Given the description of an element on the screen output the (x, y) to click on. 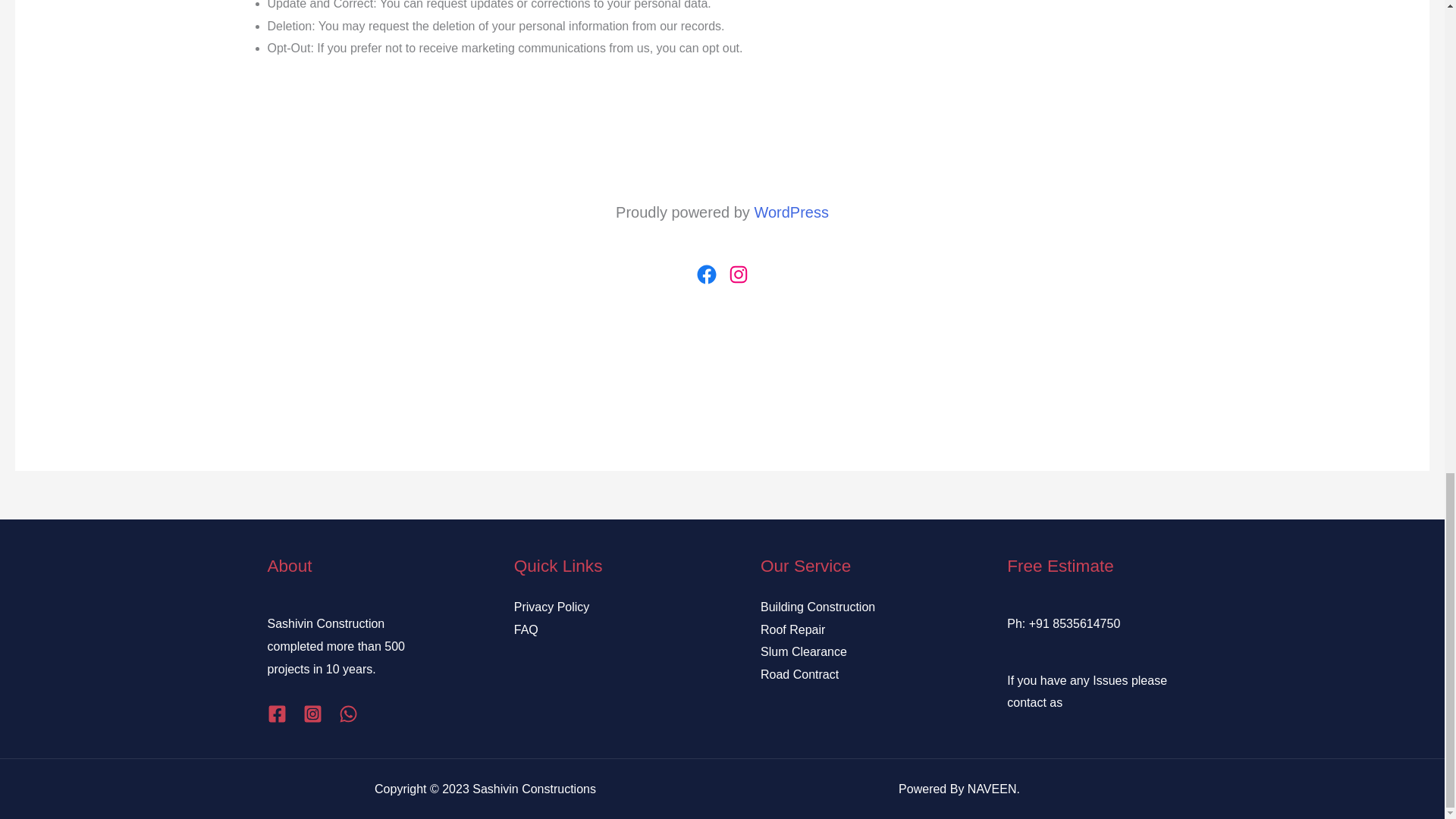
Roof Repair (792, 629)
Building Construction (817, 606)
Facebook (705, 273)
Instagram (737, 273)
Privacy Policy (551, 606)
Slum Clearance (803, 651)
FAQ (525, 629)
Road Contract (799, 674)
WordPress (791, 211)
